Given the description of an element on the screen output the (x, y) to click on. 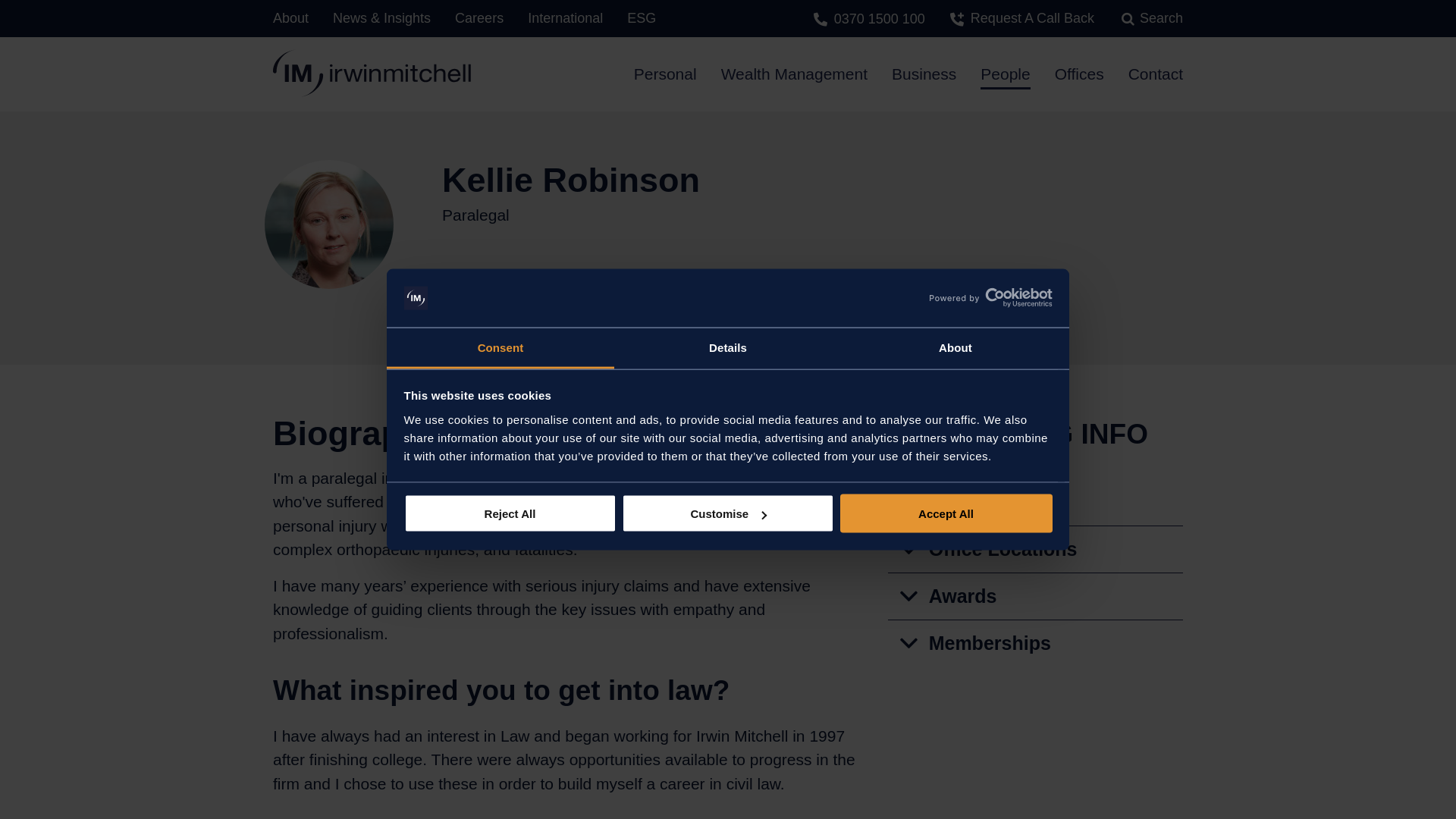
Consent (500, 347)
Details (727, 347)
How can I help? (527, 293)
About (954, 347)
